Given the description of an element on the screen output the (x, y) to click on. 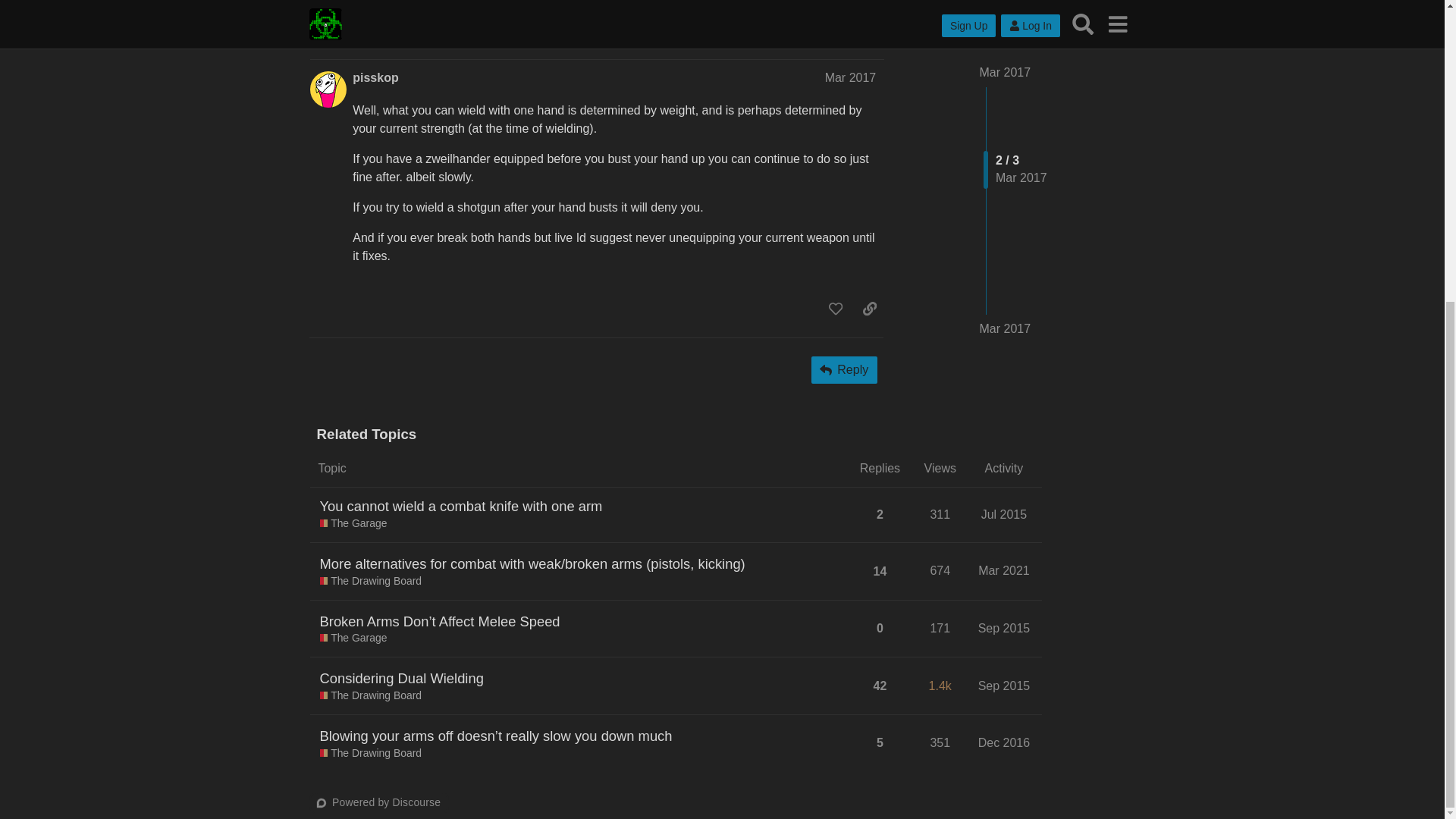
You cannot wield a combat knife with one arm (461, 505)
Reply (843, 370)
Mar 2017 (850, 77)
The Garage (353, 523)
pisskop (374, 77)
